Given the description of an element on the screen output the (x, y) to click on. 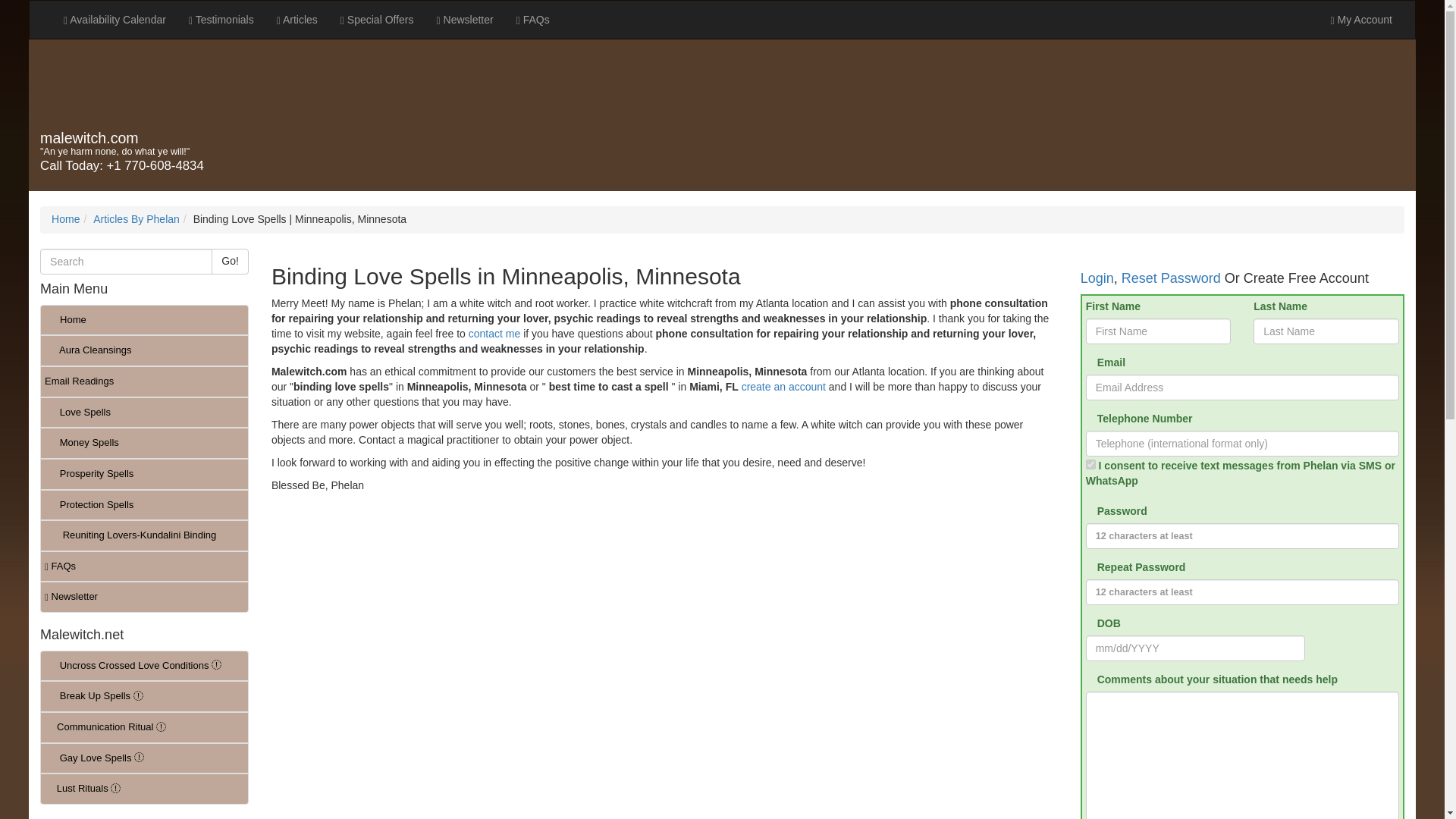
email readings (144, 381)
Reuniting Lovers-Kundalini Binding (144, 535)
malewitch.com (89, 137)
Gay Love Spells (144, 757)
prosperity spells (144, 473)
love spells (144, 412)
Home (144, 319)
phelan's articles (296, 19)
My Account (1361, 19)
Go! (229, 261)
